Given the description of an element on the screen output the (x, y) to click on. 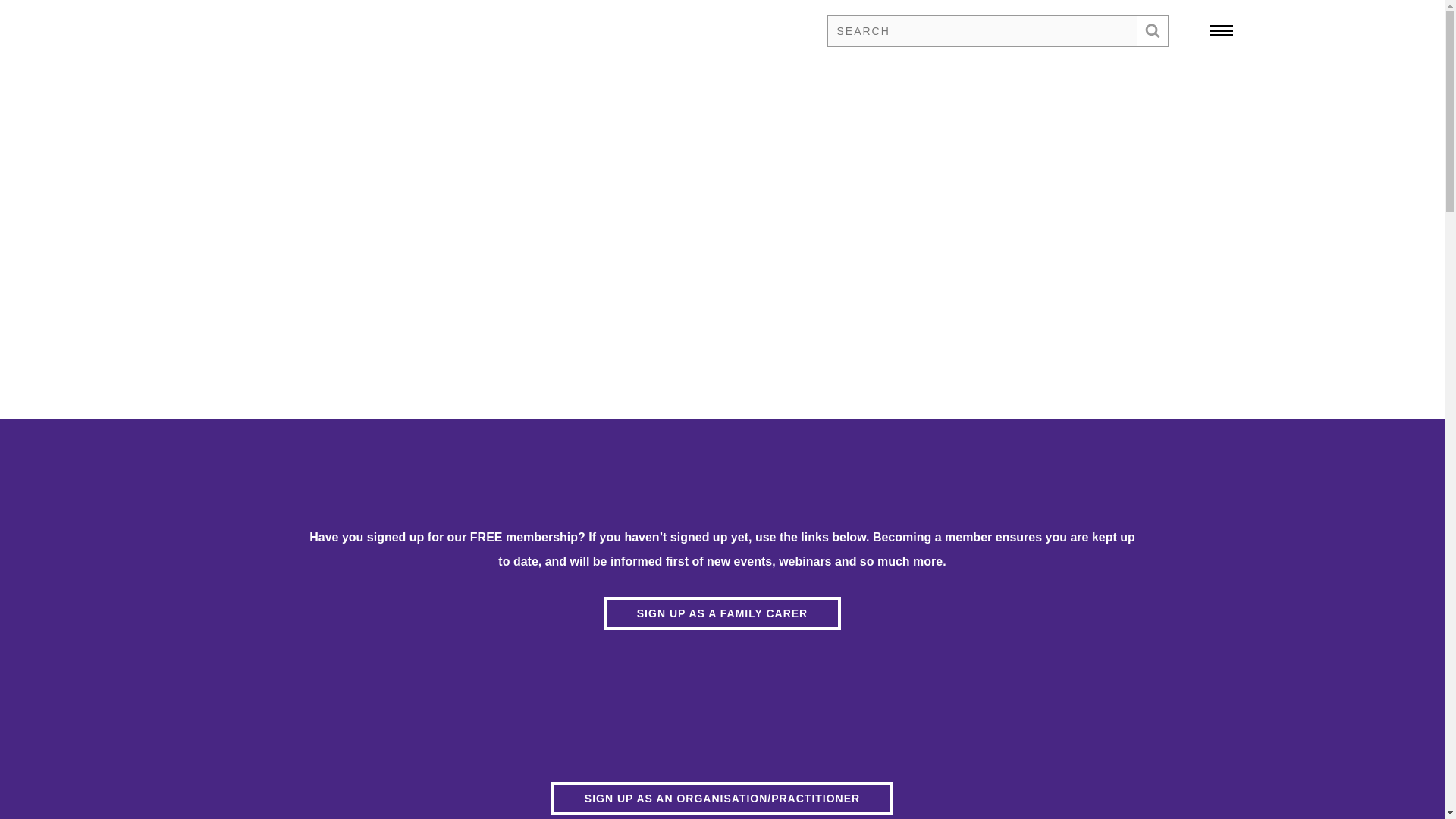
SIGN UP AS A FAMILY CARER (722, 613)
